Given the description of an element on the screen output the (x, y) to click on. 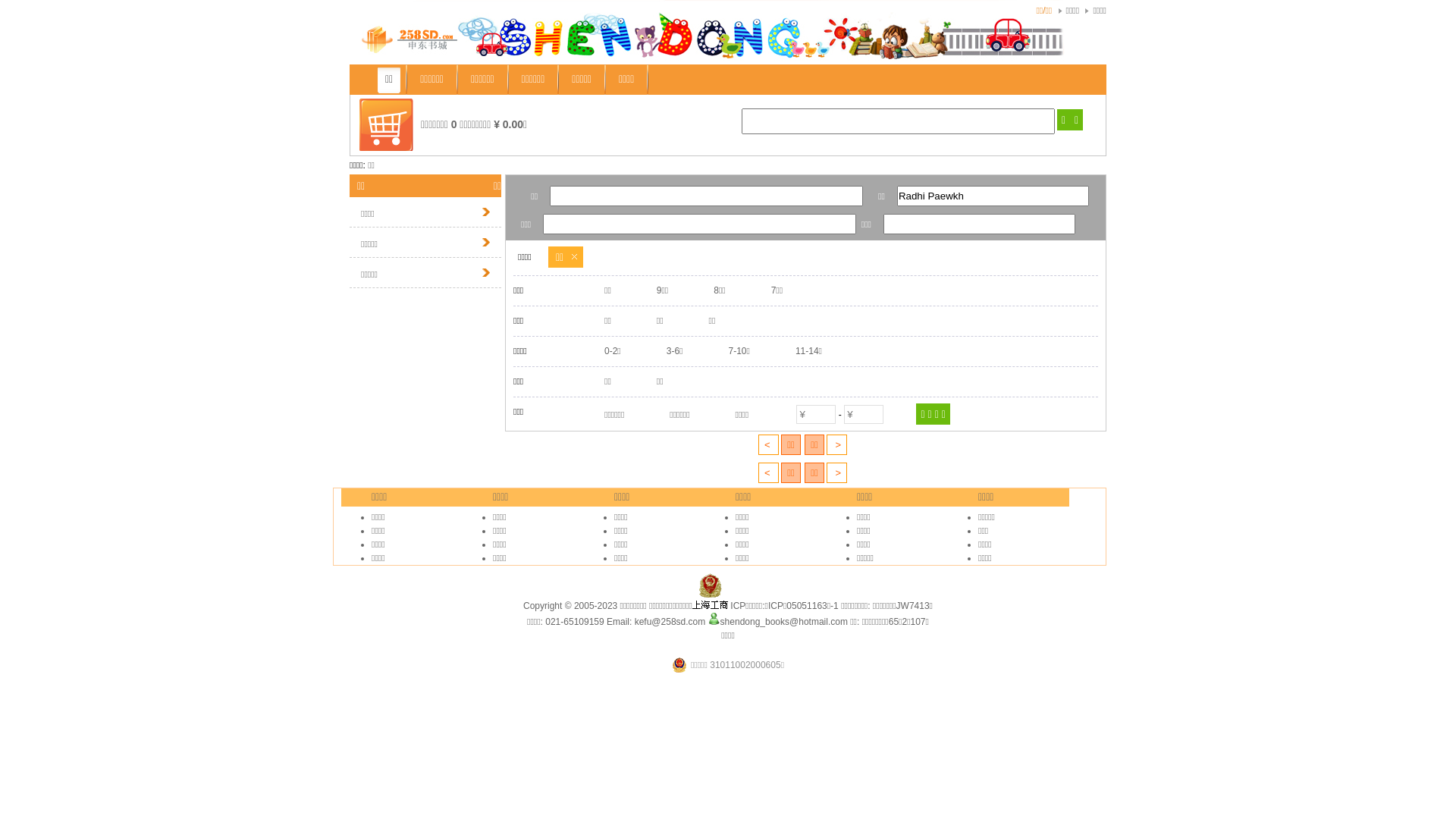
Email: kefu@258sd.com Element type: text (655, 621)
shendong_books@hotmail.com Element type: text (777, 621)
< Element type: text (768, 444)
> Element type: text (836, 444)
> Element type: text (836, 472)
< Element type: text (768, 472)
